Given the description of an element on the screen output the (x, y) to click on. 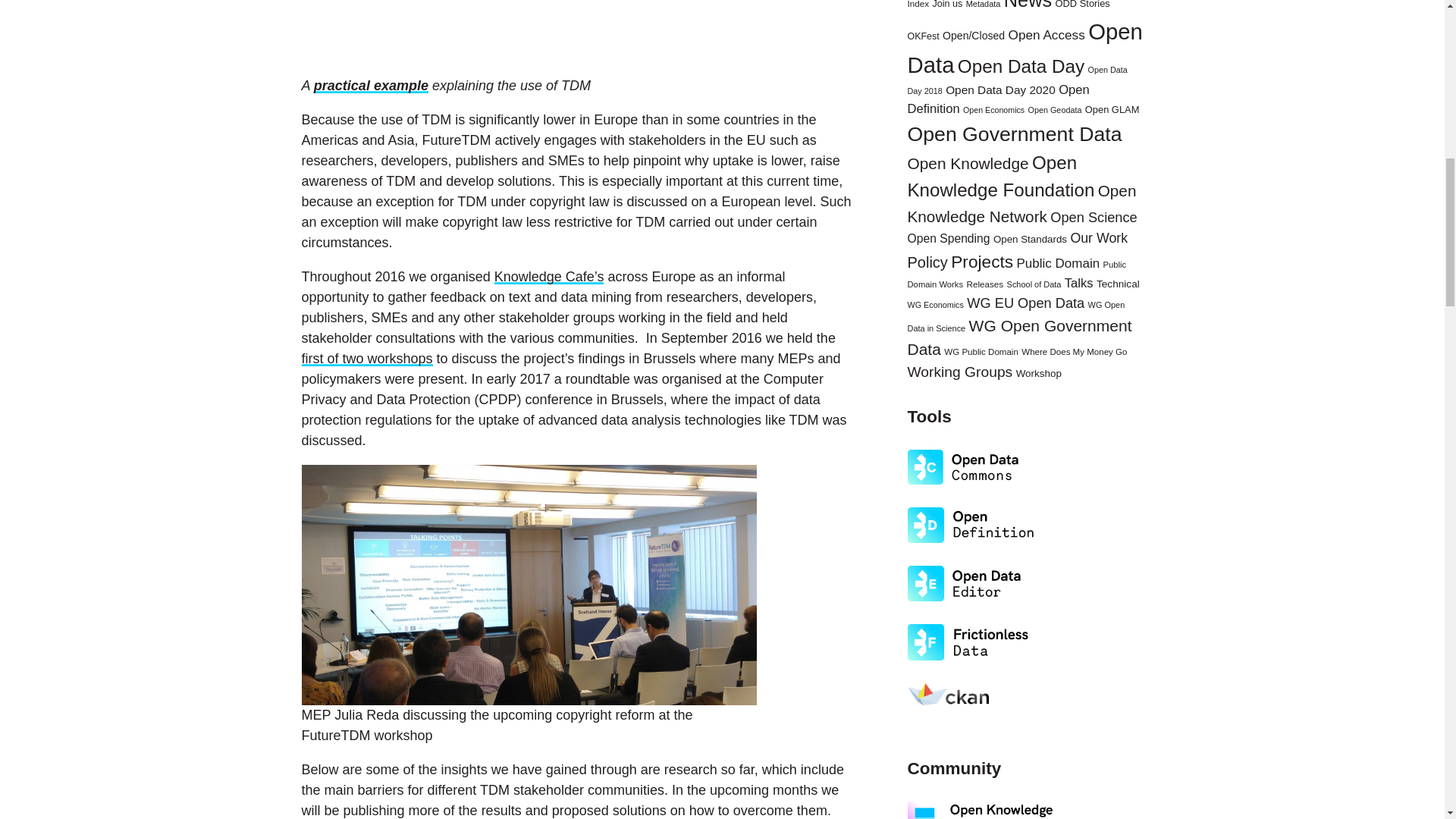
first of two workshops (366, 358)
practical example (371, 85)
